Given the description of an element on the screen output the (x, y) to click on. 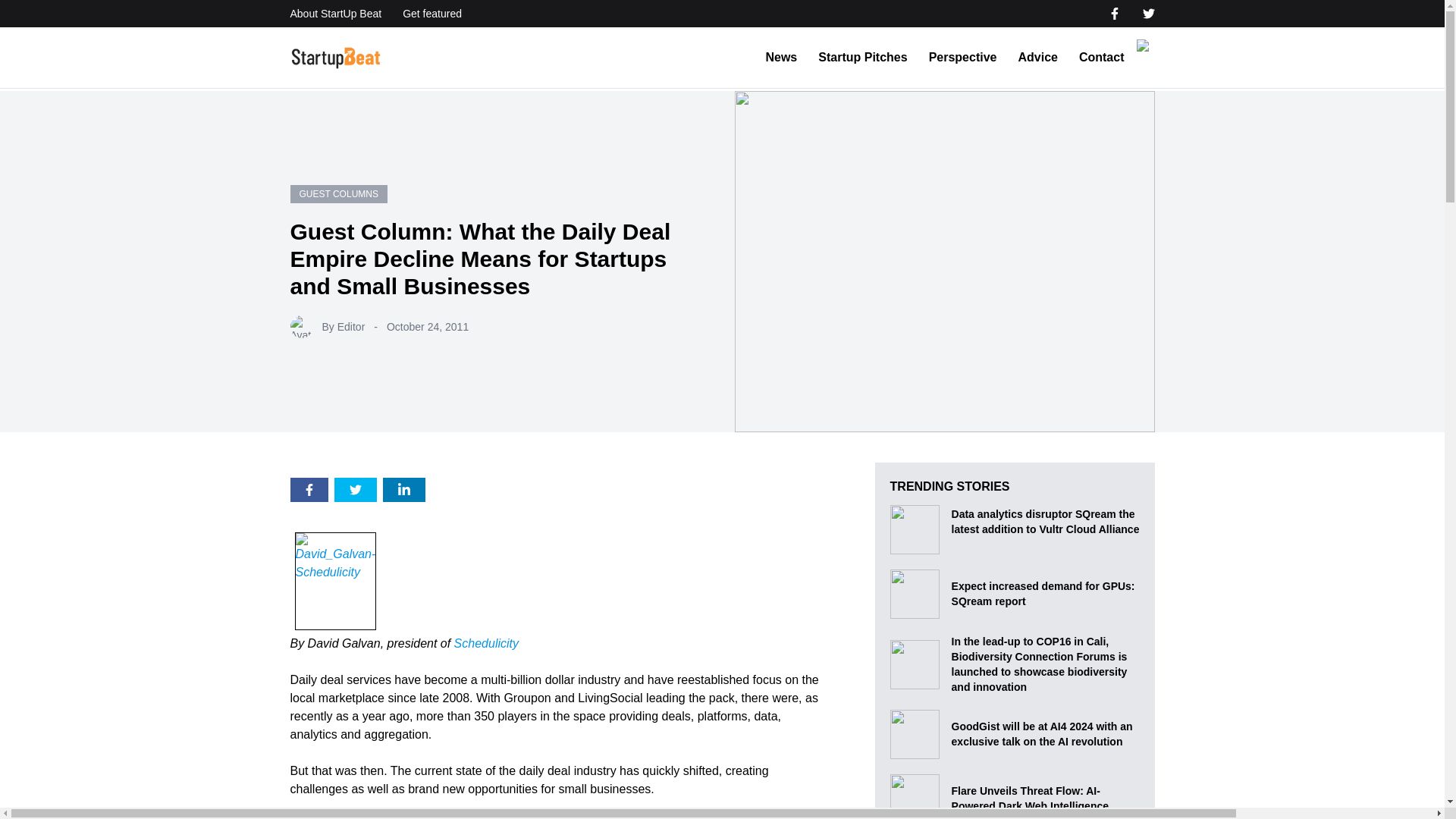
Get featured (432, 13)
Schedulicity (486, 643)
Startup Pitches (862, 57)
Advice (1037, 57)
About StartUp Beat (335, 13)
Contact (1101, 57)
Perspective (962, 57)
News (780, 57)
GUEST COLUMNS (338, 194)
